Given the description of an element on the screen output the (x, y) to click on. 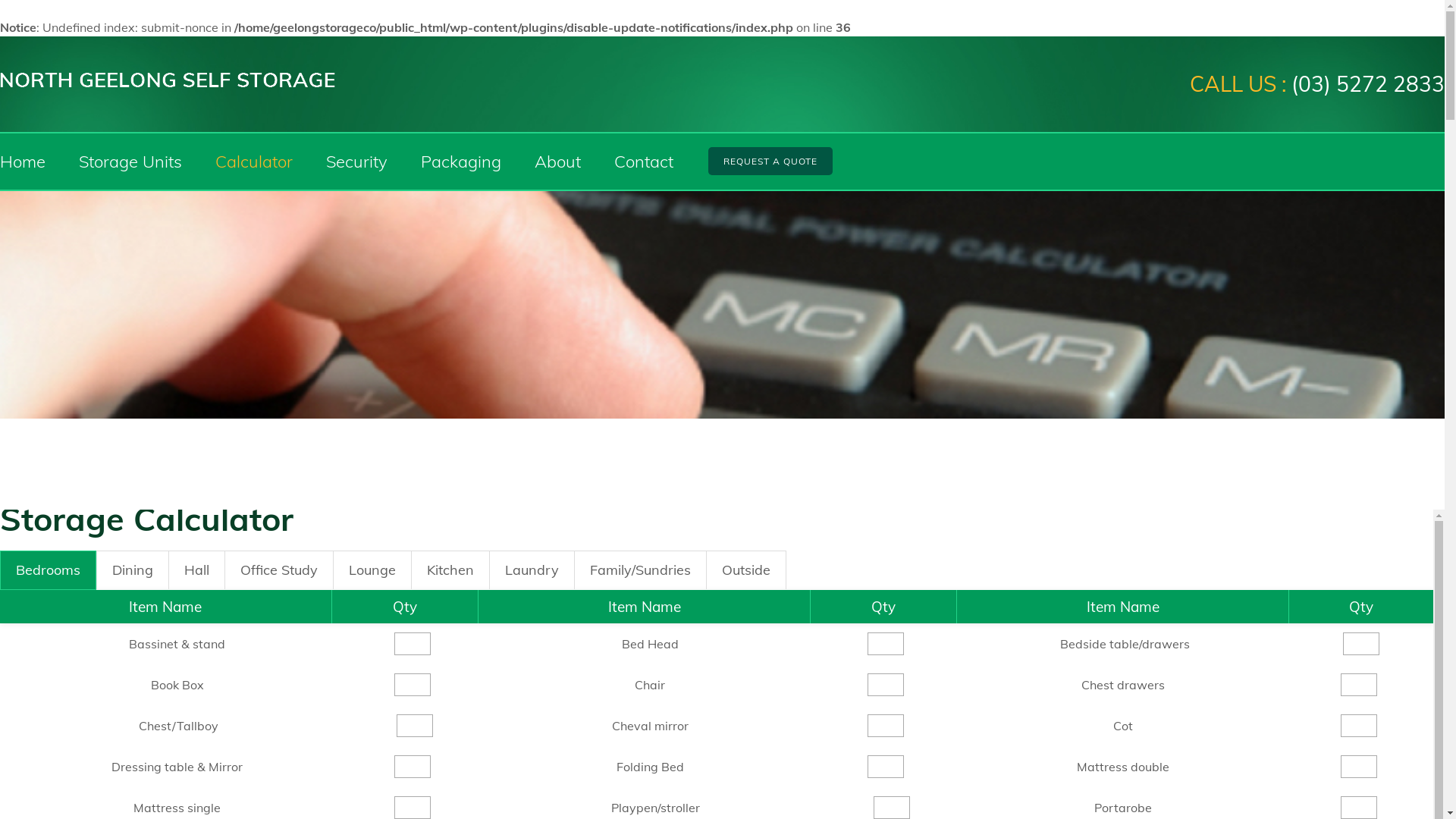
Family/Sundries Element type: text (640, 570)
Contact Element type: text (643, 161)
About Element type: text (557, 161)
Dining Element type: text (132, 570)
Packaging Element type: text (460, 161)
Office Study Element type: text (278, 570)
Security Element type: text (356, 161)
Bedrooms Element type: text (47, 570)
Kitchen Element type: text (450, 570)
Laundry Element type: text (531, 570)
Home Element type: text (22, 161)
Storage Units Element type: text (130, 161)
Calculator Element type: text (253, 161)
CALL US : (03) 5272 2833 Element type: text (1316, 83)
REQUEST A QUOTE Element type: text (770, 161)
Outside Element type: text (745, 570)
Hall Element type: text (196, 570)
Lounge Element type: text (372, 570)
